Given the description of an element on the screen output the (x, y) to click on. 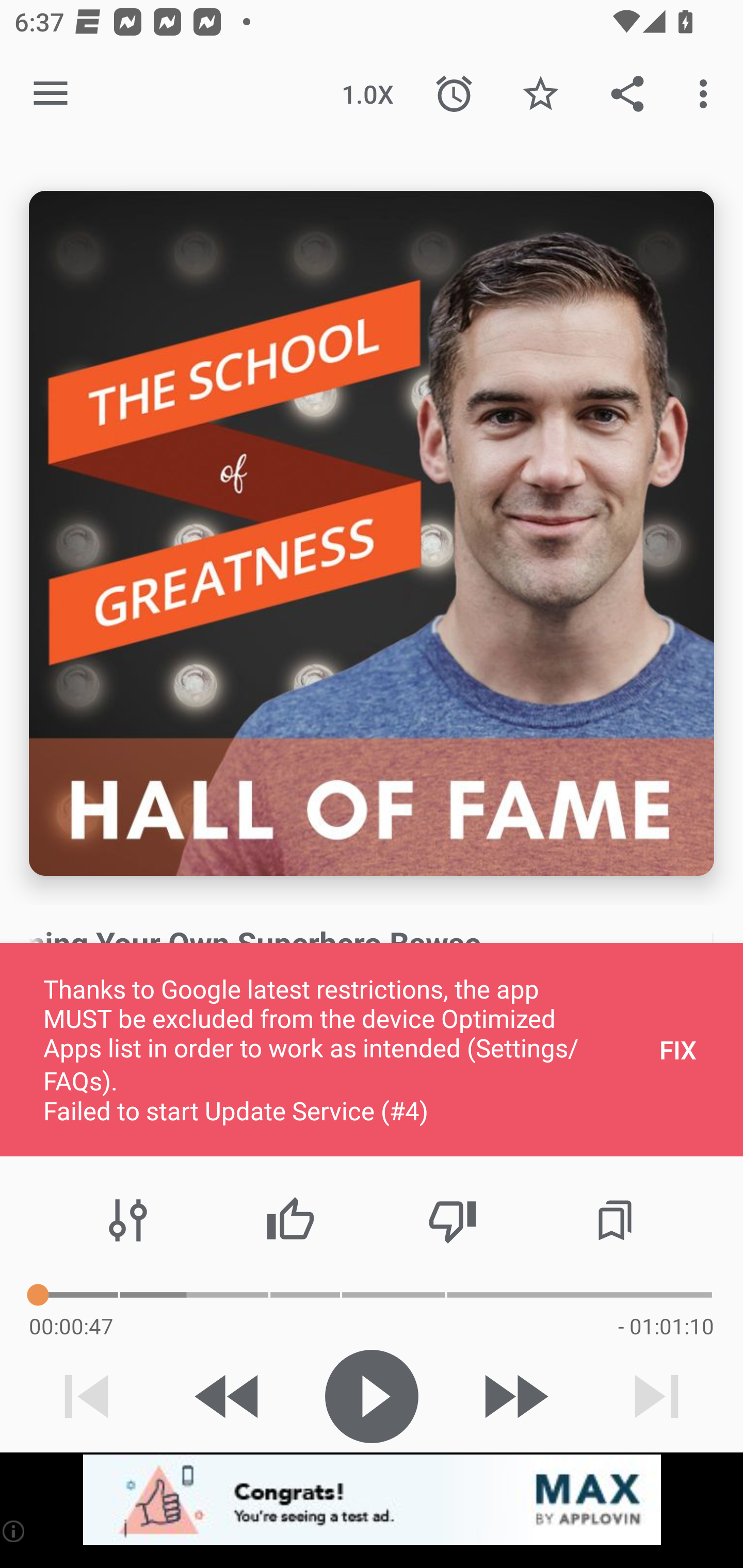
Open navigation sidebar (50, 93)
1.0X (366, 93)
Sleep Timer (453, 93)
Favorite (540, 93)
Share (626, 93)
More options (706, 93)
Episode description (371, 533)
FIX (677, 1049)
Audio effects (127, 1220)
Thumbs up (290, 1220)
Thumbs down (452, 1220)
Chapters / Bookmarks (614, 1220)
- 01:01:10 (666, 1325)
Previous track (86, 1395)
Skip 15s backward (228, 1395)
Play / Pause (371, 1395)
Skip 30s forward (513, 1395)
Next track (656, 1395)
app-monetization (371, 1500)
(i) (14, 1531)
